Given the description of an element on the screen output the (x, y) to click on. 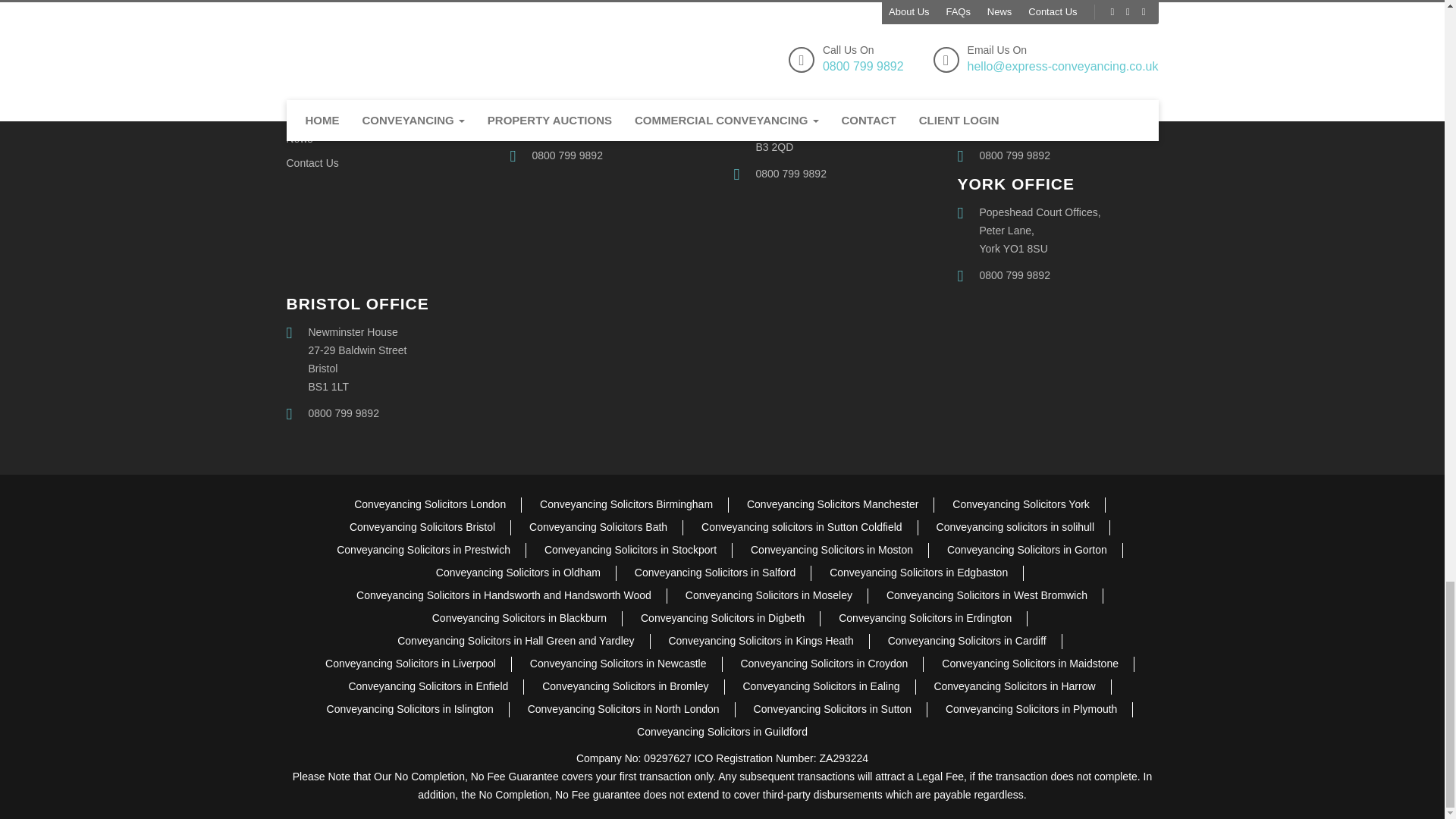
FAQs (299, 114)
About us (307, 90)
